Given the description of an element on the screen output the (x, y) to click on. 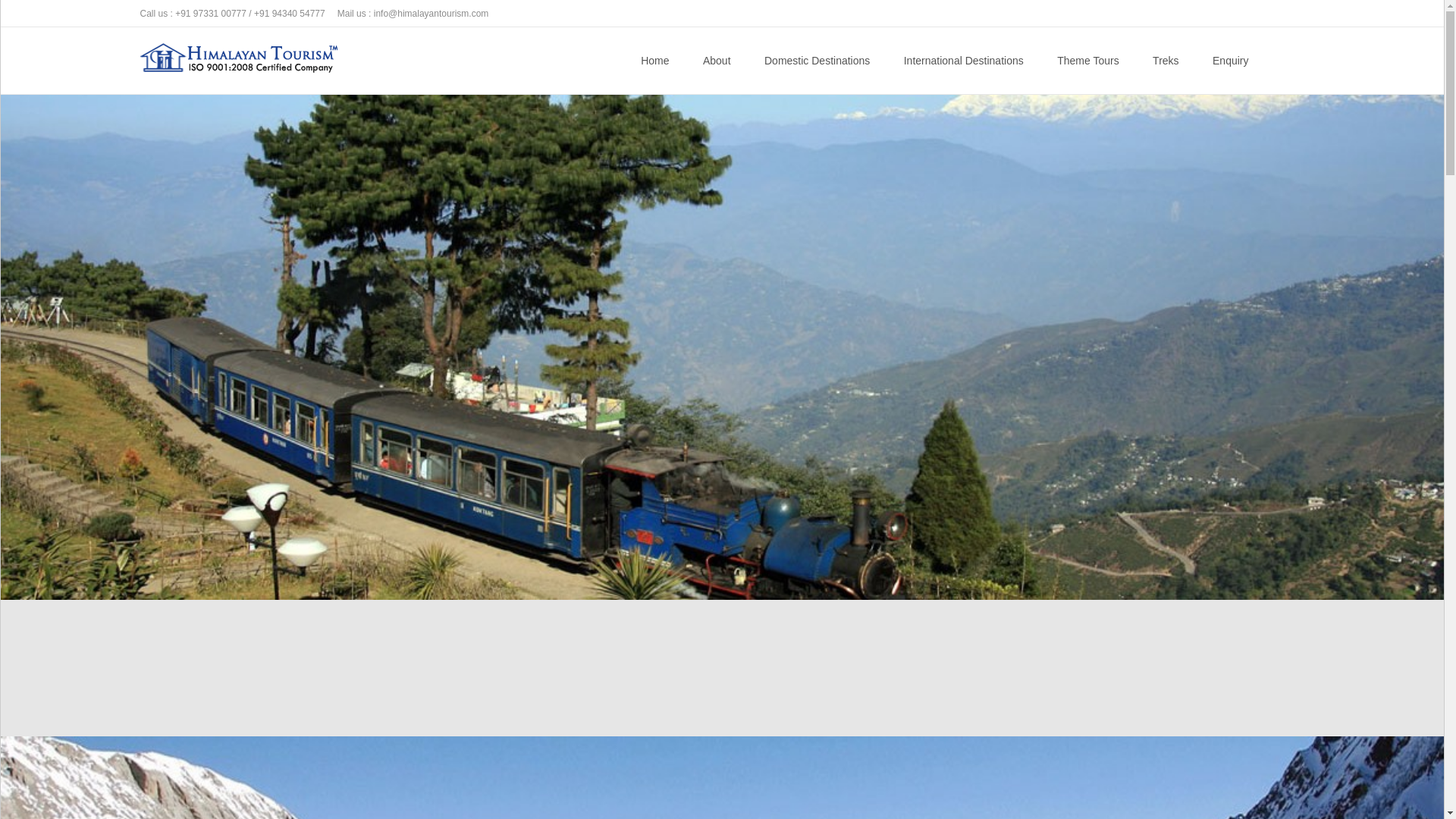
Theme Tours (1087, 60)
Himalayan Tourism (225, 57)
International Destinations (963, 60)
Domestic Destinations (816, 60)
